Given the description of an element on the screen output the (x, y) to click on. 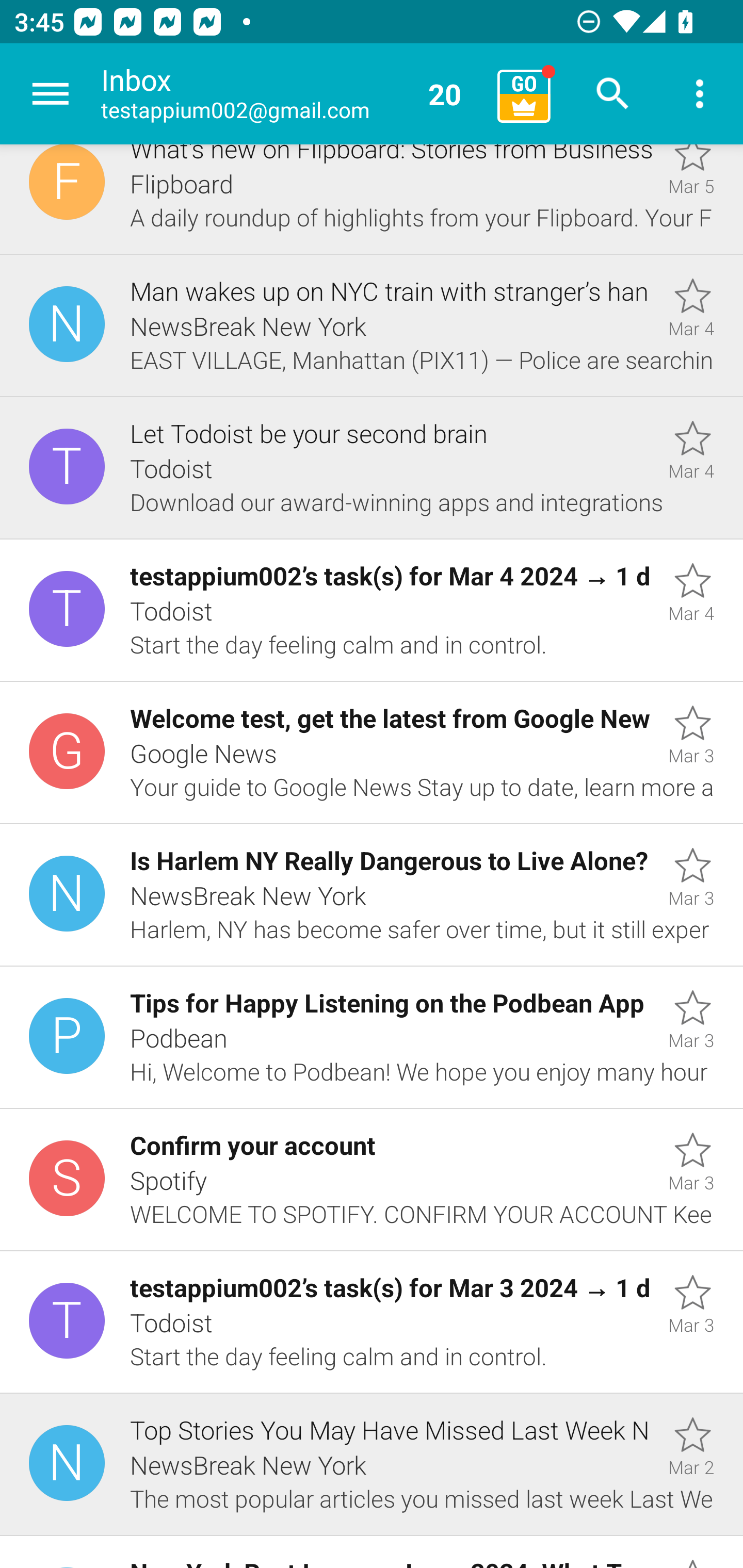
Navigate up (50, 93)
Inbox testappium002@gmail.com 20 (291, 93)
Search (612, 93)
More options (699, 93)
